Given the description of an element on the screen output the (x, y) to click on. 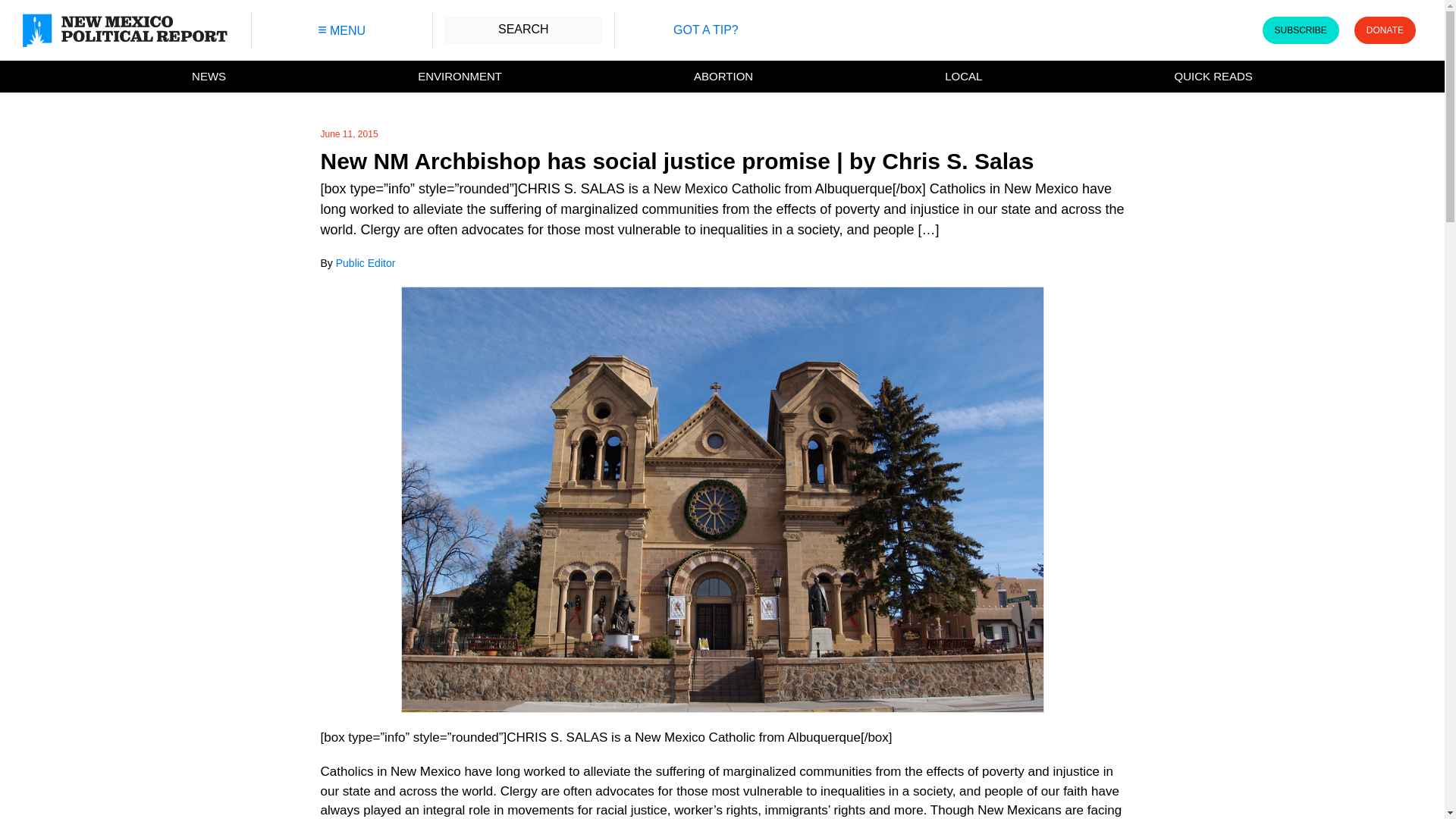
NEWS (208, 76)
ABORTION (723, 76)
ENVIRONMENT (459, 76)
SUBSCRIBE (1300, 30)
LOCAL (962, 76)
DONATE (1384, 30)
MENU (341, 30)
QUICK READS (1213, 76)
GOT A TIP? (705, 29)
